Given the description of an element on the screen output the (x, y) to click on. 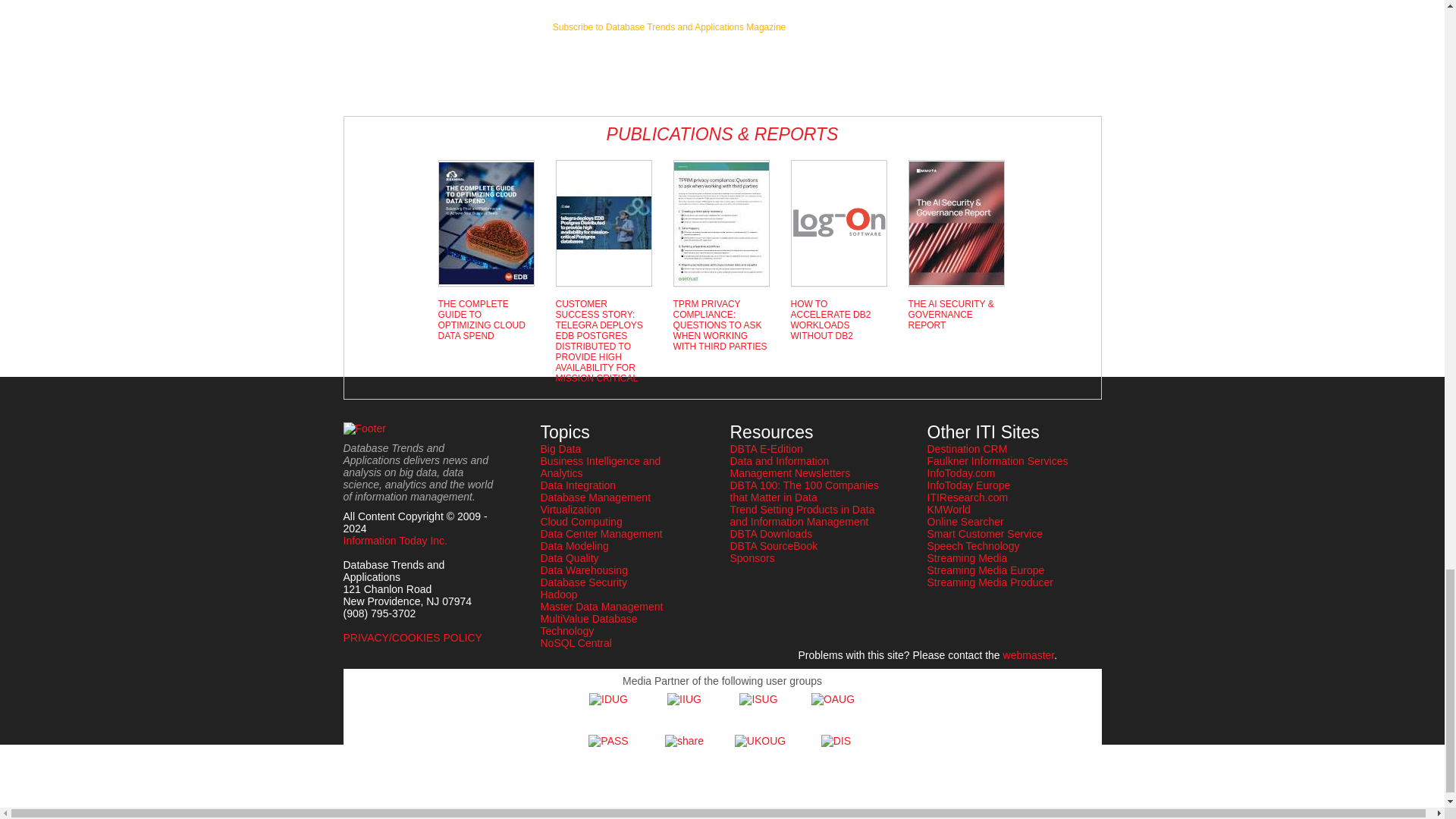
3rd party ad content (668, 62)
